Given the description of an element on the screen output the (x, y) to click on. 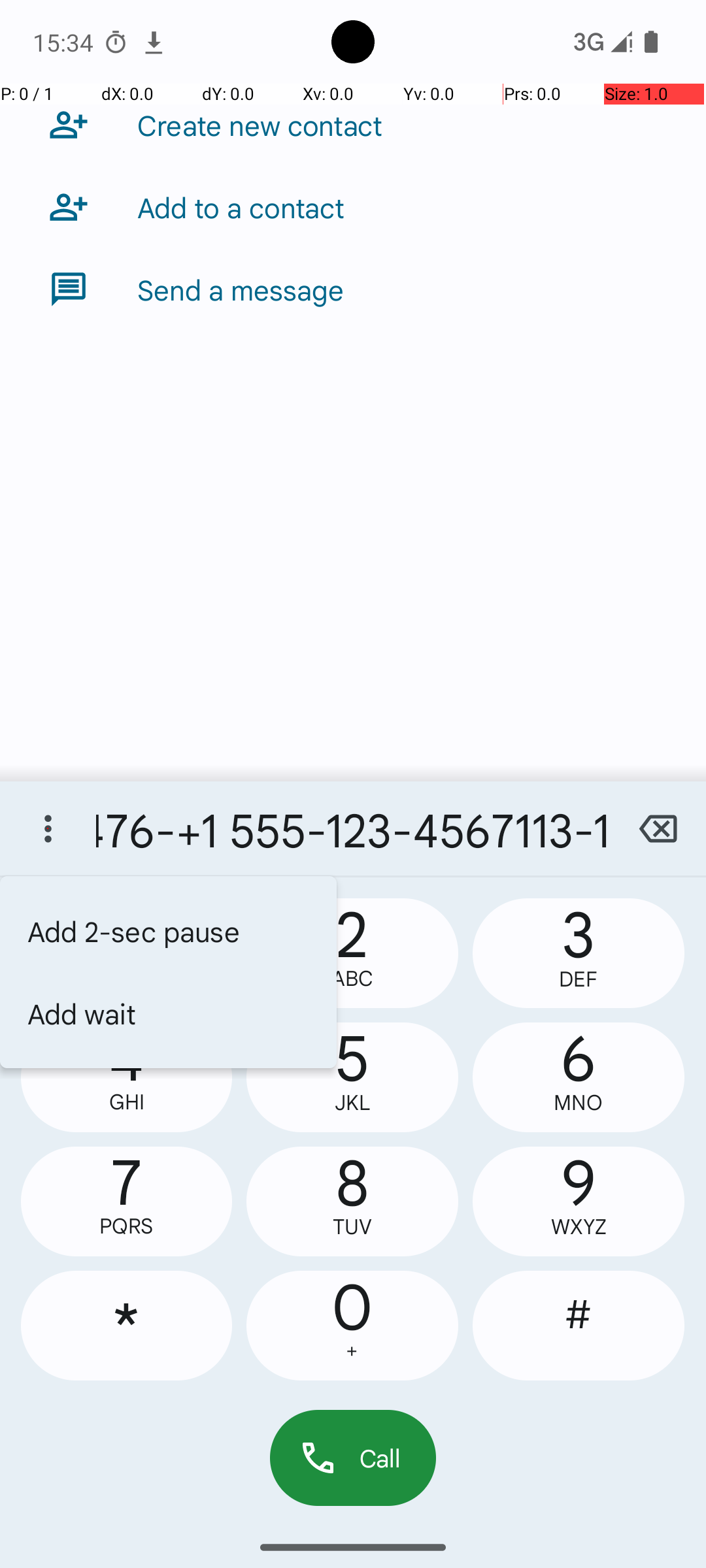
Add 2-sec pause Element type: android.widget.TextView (168, 930)
Add wait Element type: android.widget.TextView (168, 1012)
